Given the description of an element on the screen output the (x, y) to click on. 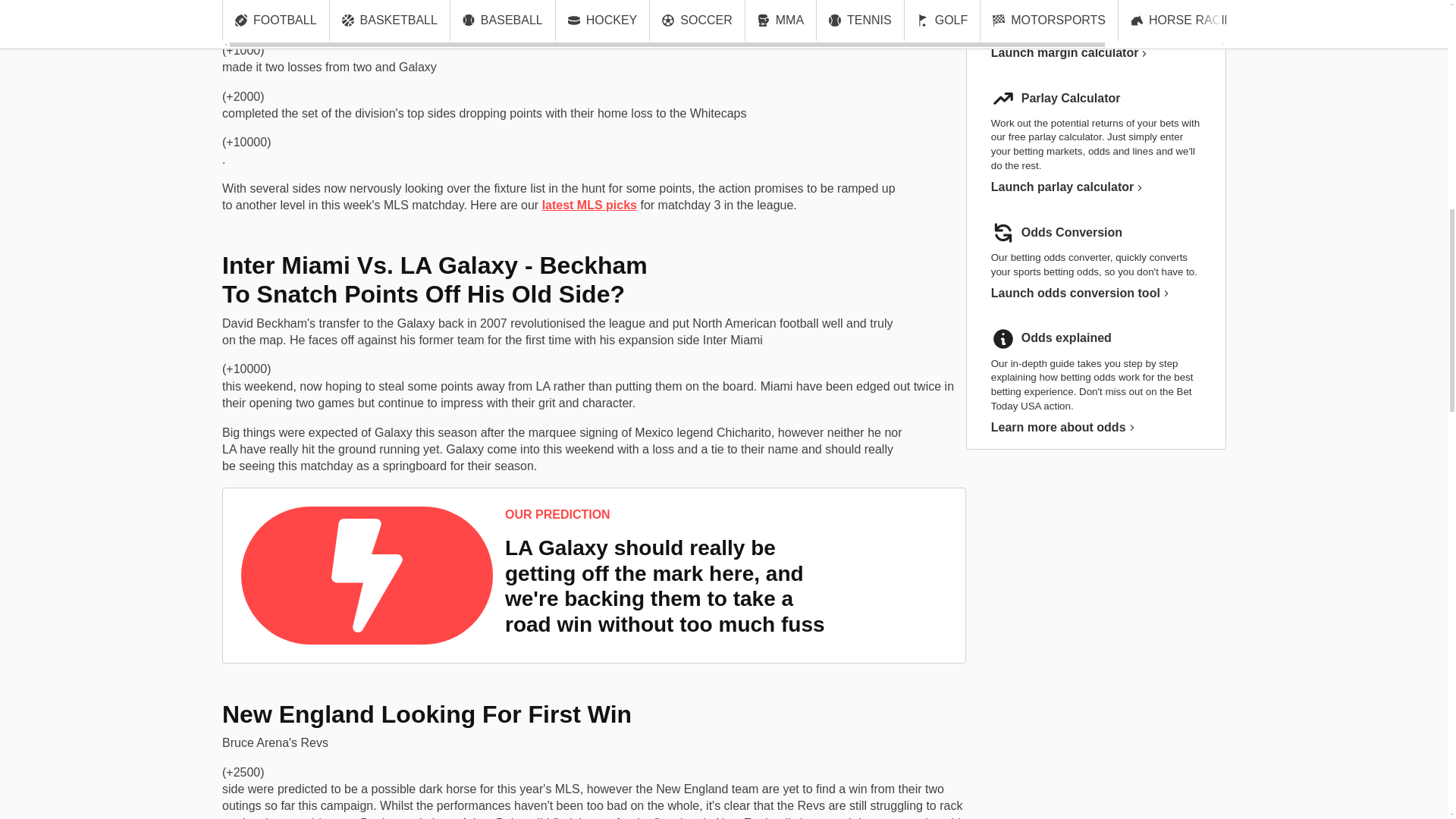
Learn more about odds (1063, 427)
Launch odds conversion tool (1080, 293)
latest MLS picks (589, 205)
Odds Conversion (1072, 232)
Launch parlay calculator (1066, 187)
Odds explained (1067, 338)
Parlay Calculator (1071, 98)
Launch margin calculator (1069, 53)
